Given the description of an element on the screen output the (x, y) to click on. 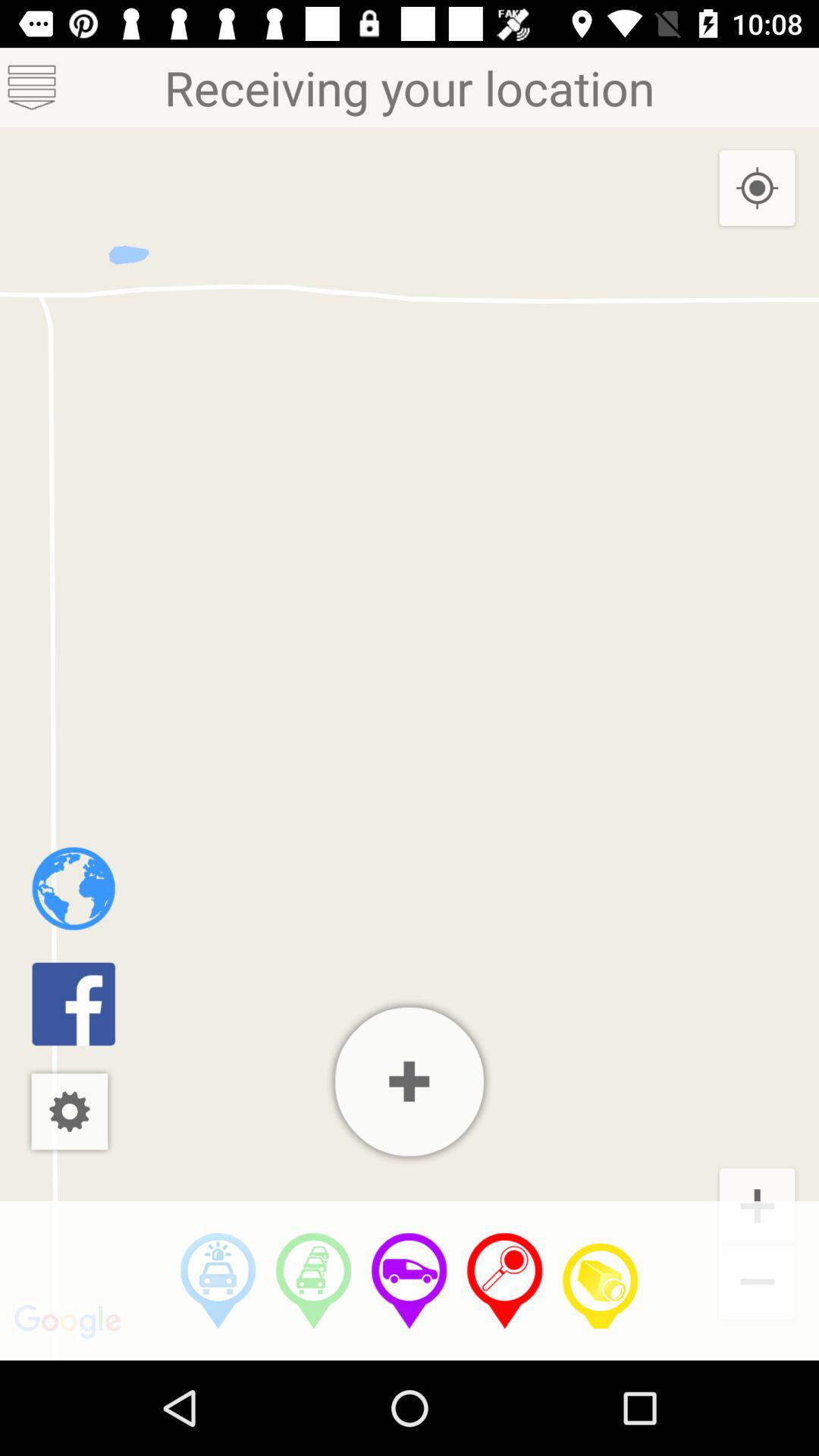
select distance by car (218, 1280)
